Given the description of an element on the screen output the (x, y) to click on. 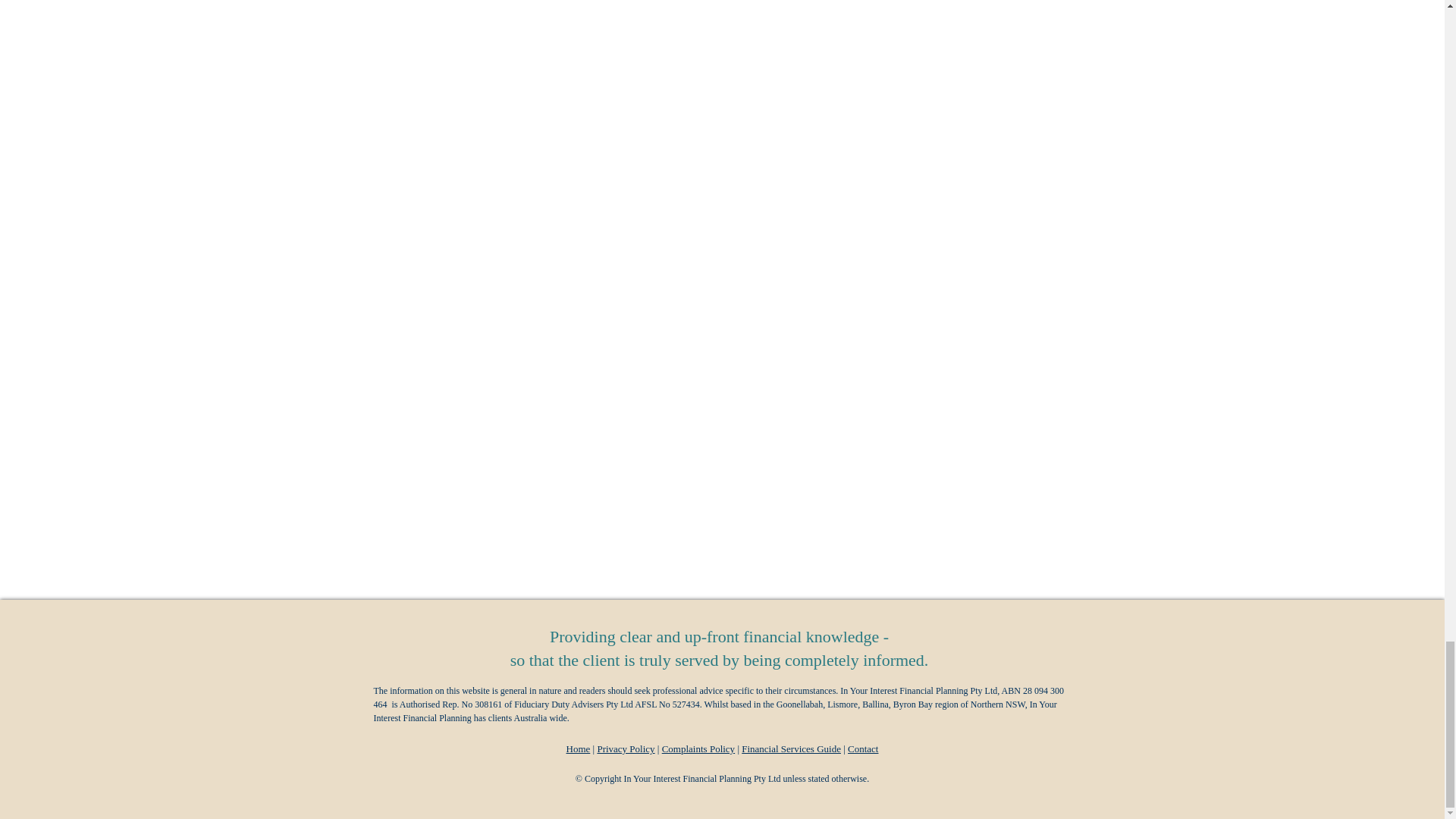
Home (578, 748)
Complaints Policy (698, 748)
Privacy Policy (624, 748)
Financial Services Guide (791, 748)
